Given the description of an element on the screen output the (x, y) to click on. 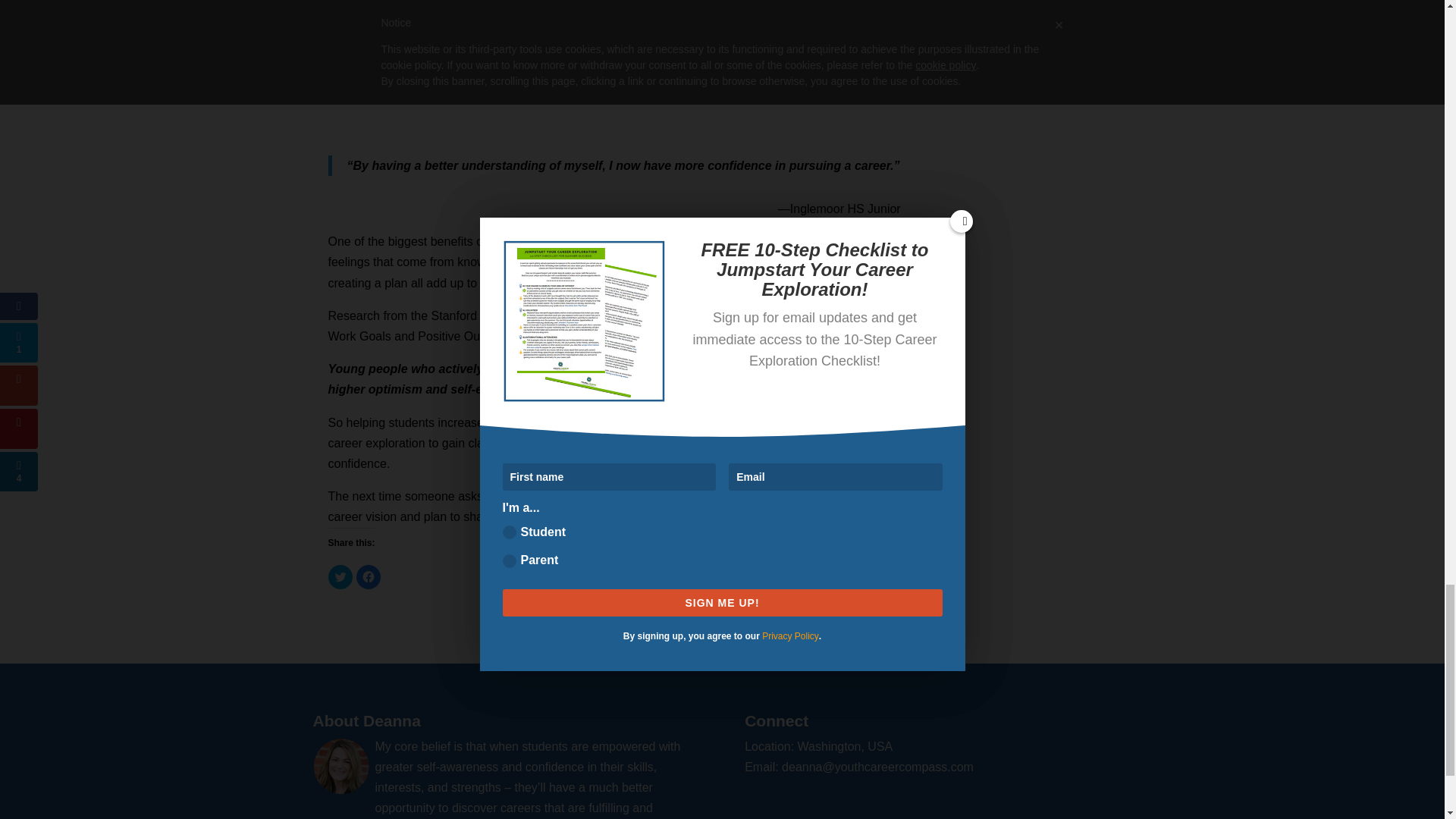
Click to share on Twitter (339, 576)
Click to share on Facebook (368, 576)
